Given the description of an element on the screen output the (x, y) to click on. 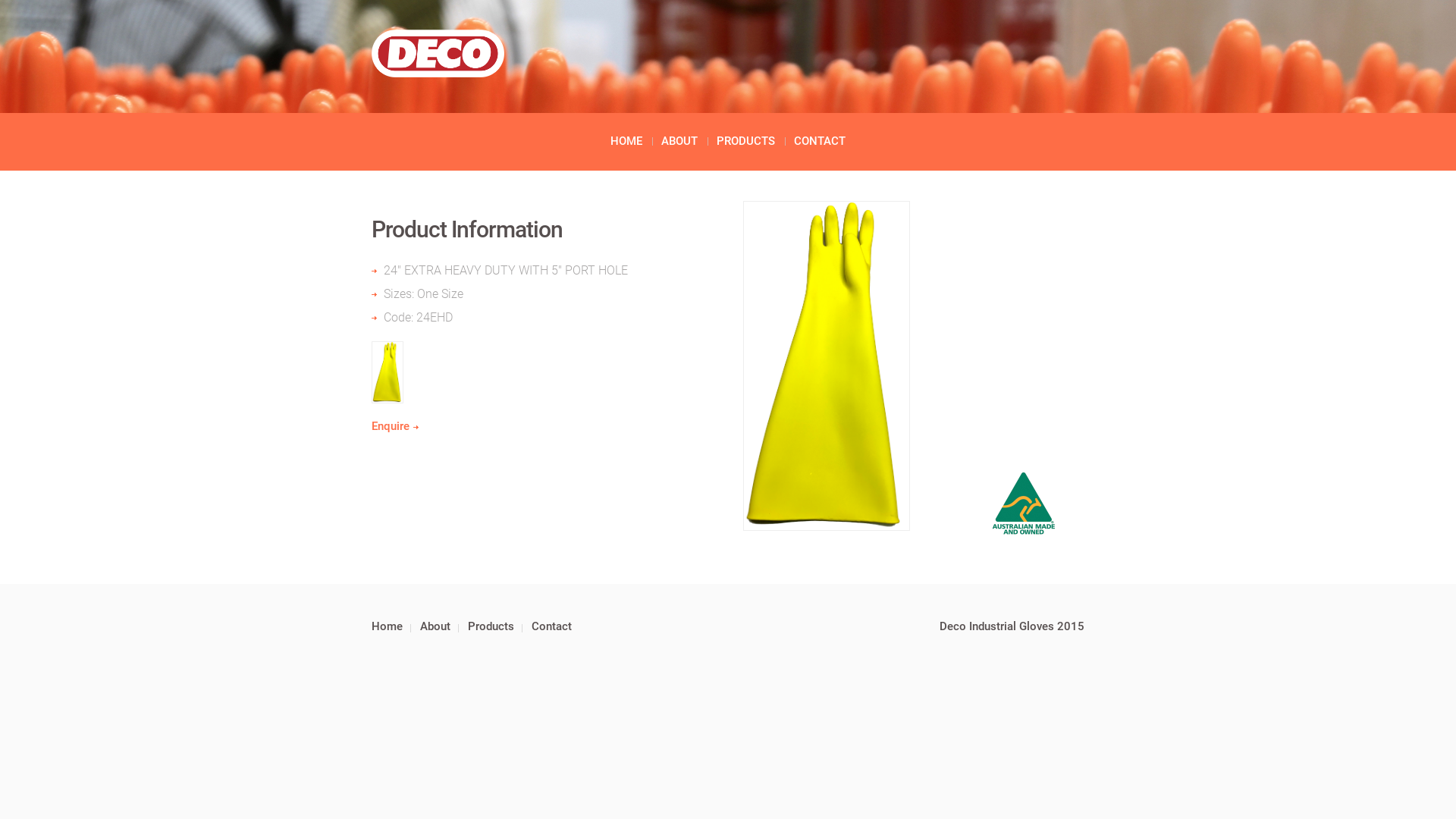
ABOUT Element type: text (679, 140)
Enquire Element type: text (394, 426)
CONTACT Element type: text (819, 140)
Home Element type: text (386, 626)
PRODUCTS Element type: text (745, 140)
HOME Element type: text (626, 140)
Products Element type: text (490, 626)
About Element type: text (435, 626)
Contact Element type: text (551, 626)
